Given the description of an element on the screen output the (x, y) to click on. 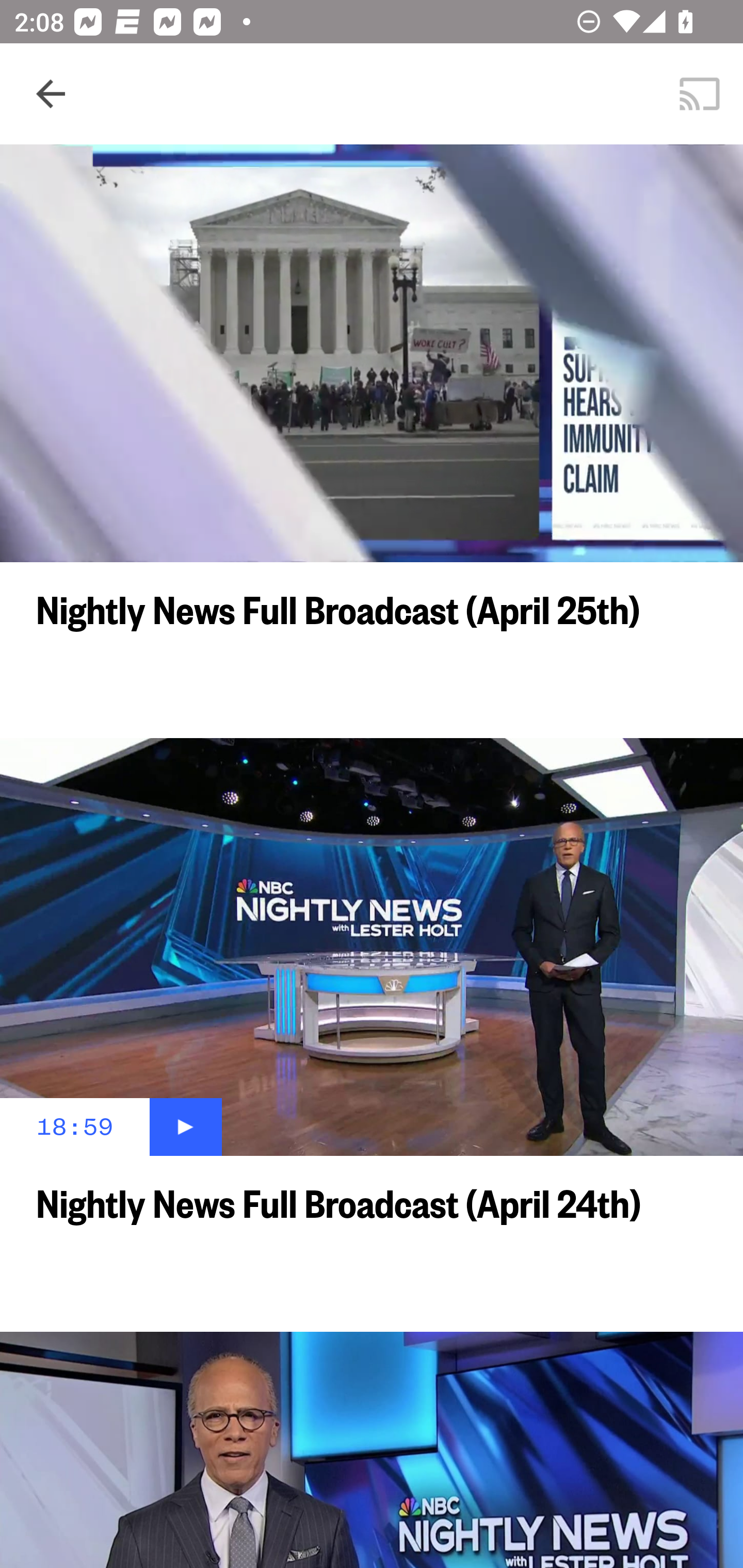
Navigate up (50, 93)
Cast. Disconnected (699, 93)
Video, Nightly News Full Broadcast (April 25th) (371, 353)
